Given the description of an element on the screen output the (x, y) to click on. 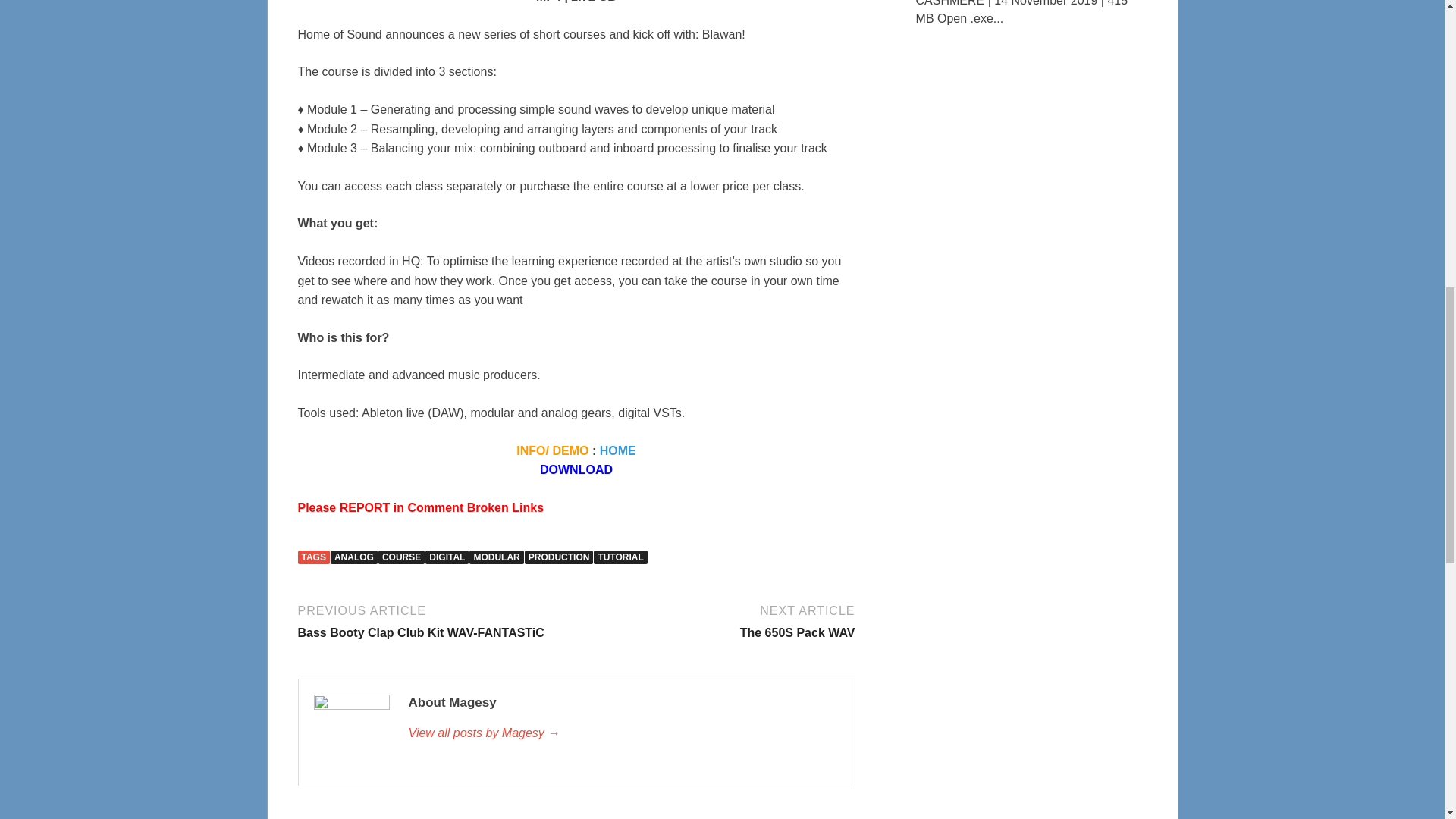
Magesy (622, 732)
